Given the description of an element on the screen output the (x, y) to click on. 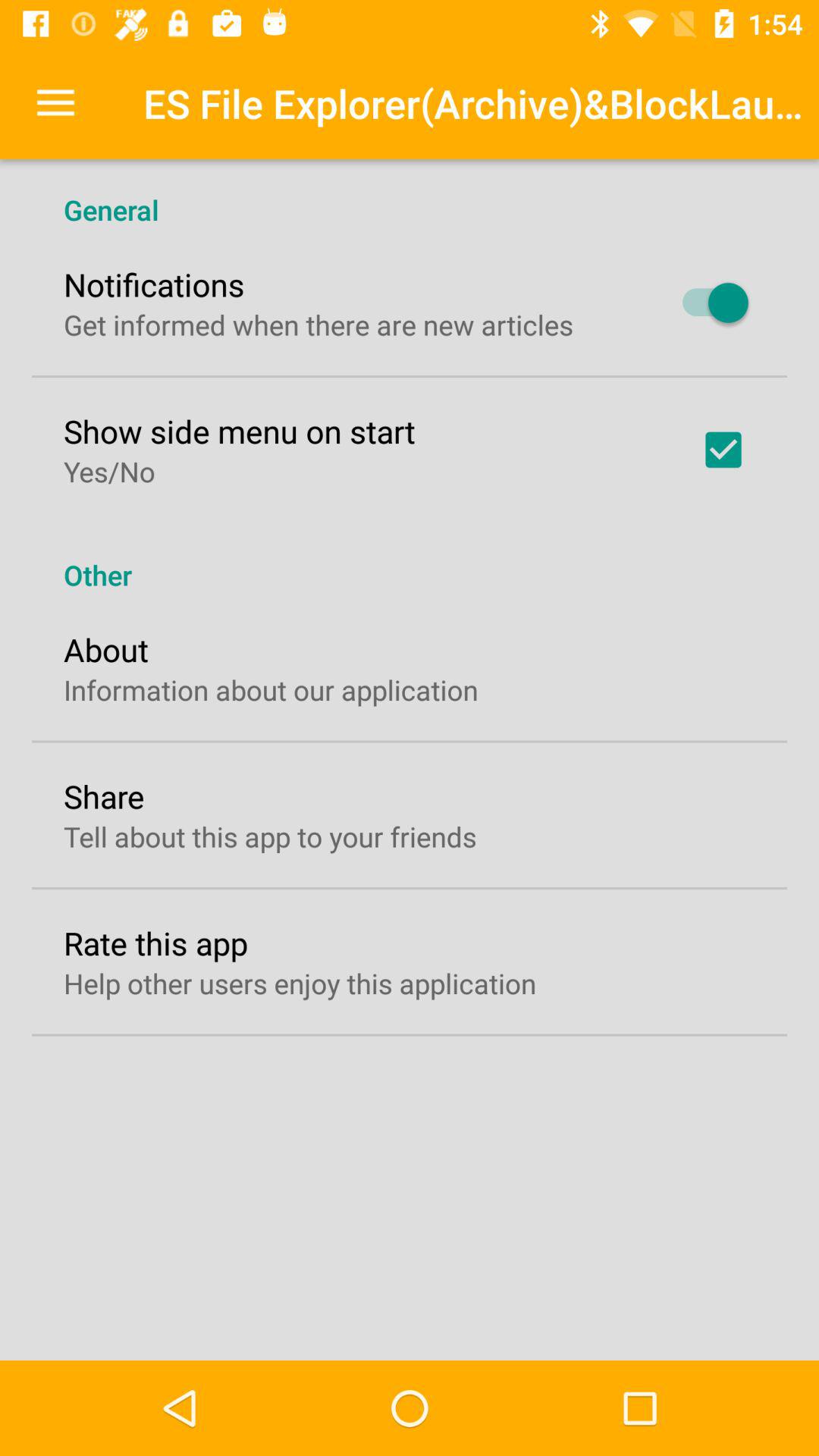
press the tell about this item (269, 836)
